Given the description of an element on the screen output the (x, y) to click on. 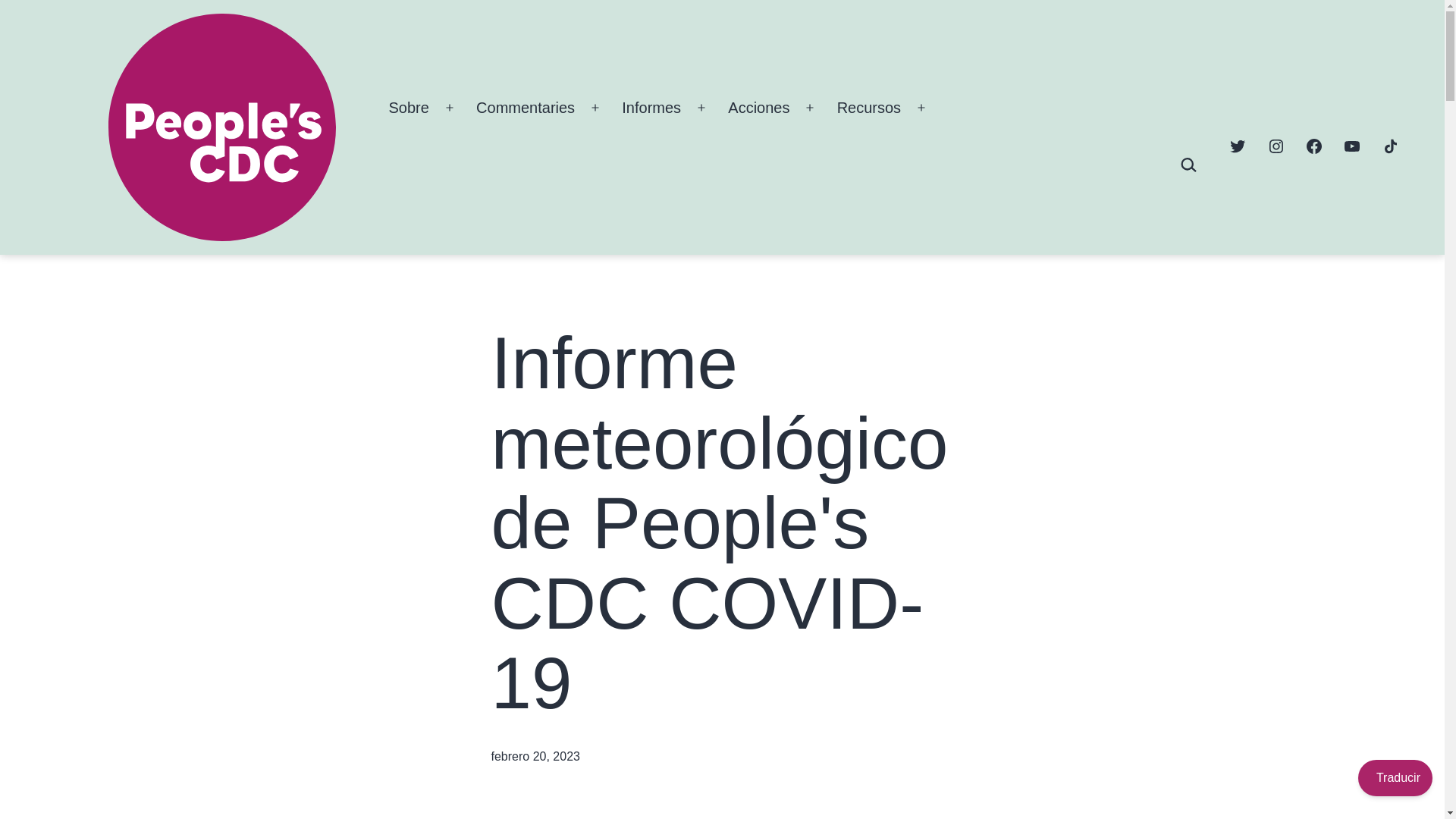
Informes (650, 108)
Recursos (869, 108)
Traducir (1395, 778)
Acciones (758, 108)
Commentaries (525, 108)
Sobre (408, 108)
